Given the description of an element on the screen output the (x, y) to click on. 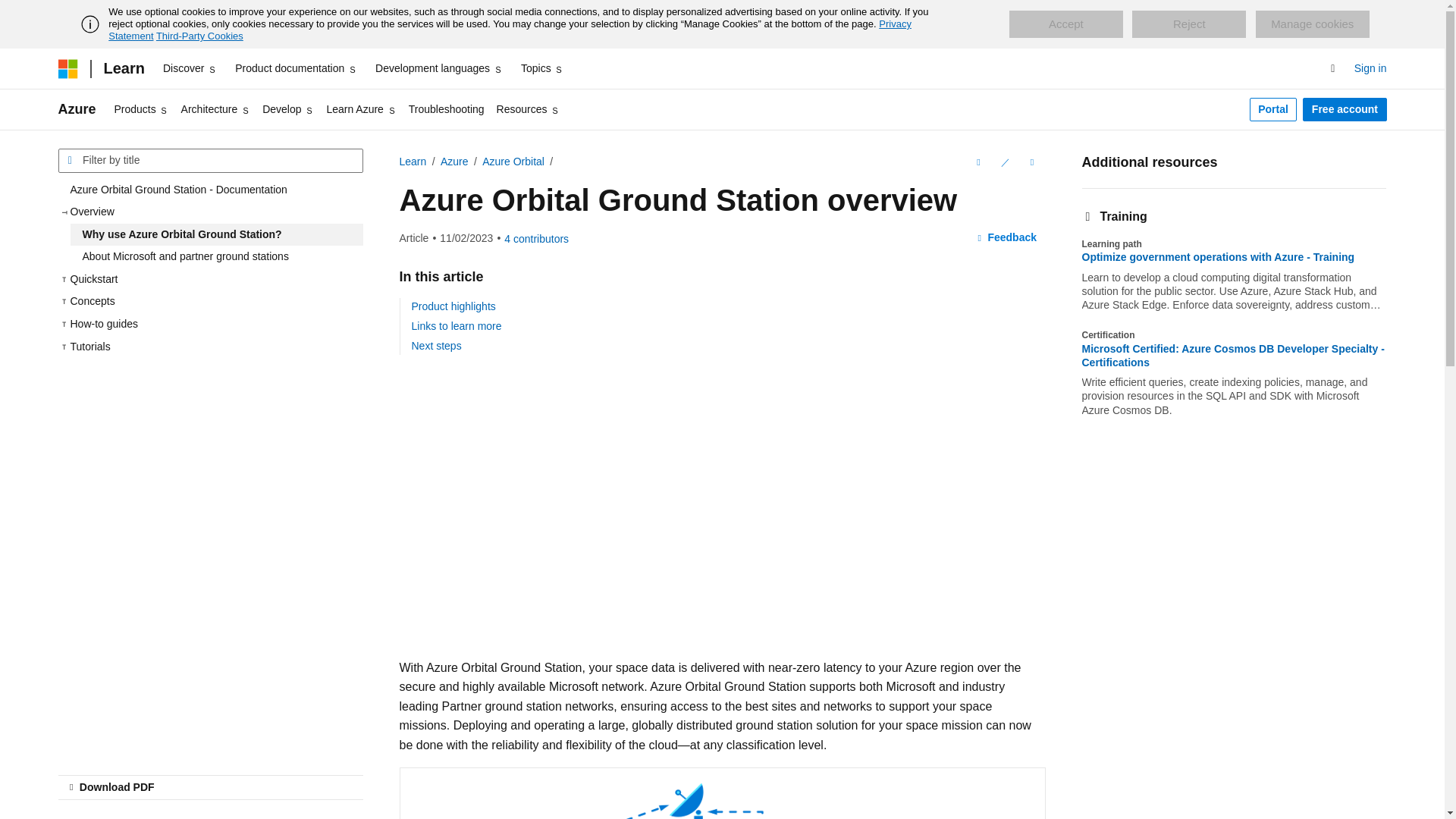
Azure (77, 109)
Development languages (438, 68)
Sign in (1370, 68)
Edit This Document (1004, 161)
Third-Party Cookies (199, 35)
Reject (1189, 23)
Products (140, 109)
Learn (123, 68)
Skip to main content (11, 11)
Product documentation (295, 68)
View all contributors (536, 238)
Accept (1065, 23)
Discover (189, 68)
More actions (1031, 161)
Video: hQbGZi9iwE4 (640, 509)
